Given the description of an element on the screen output the (x, y) to click on. 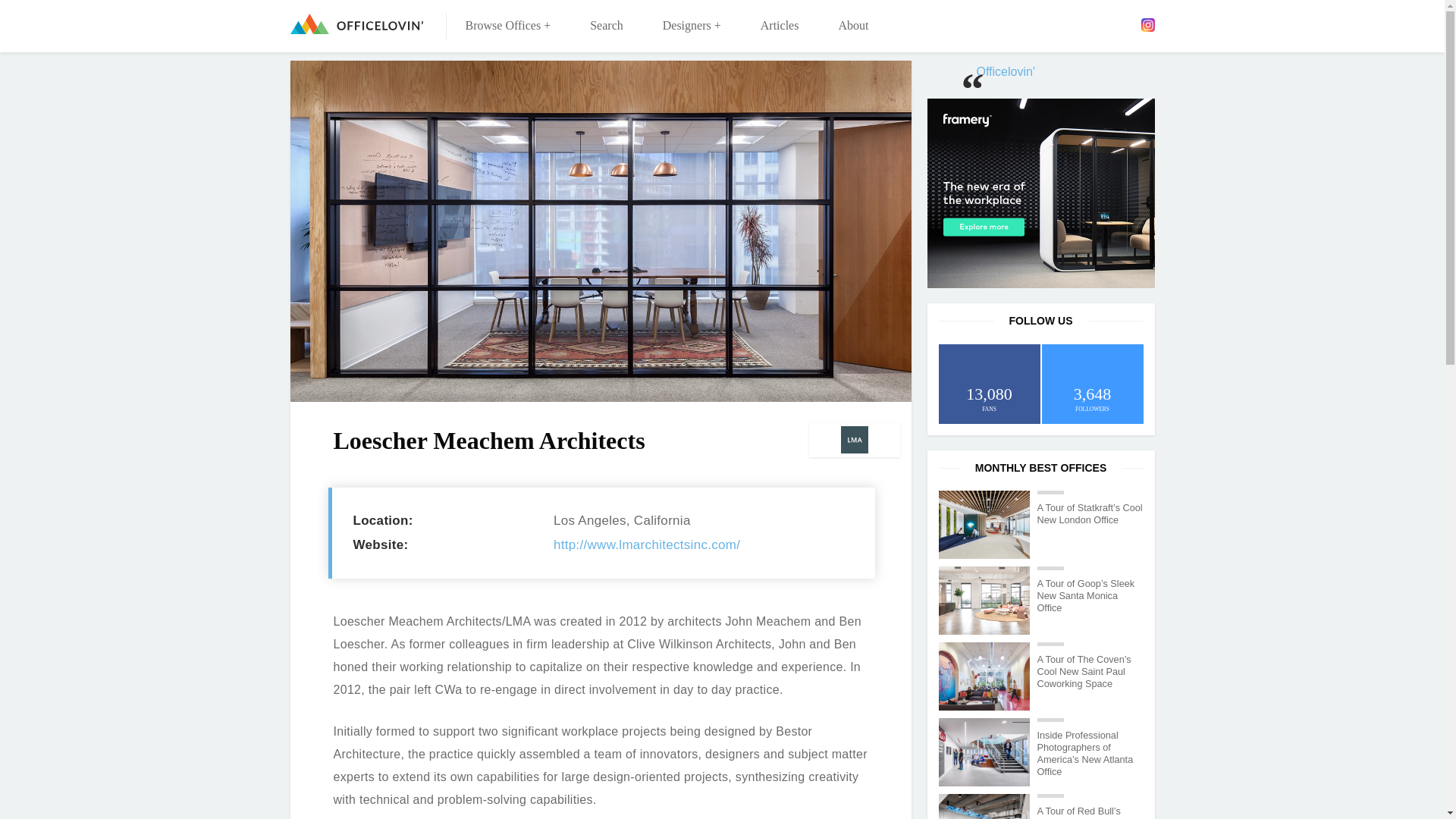
Officelovin on Facebook (1058, 24)
Officelovin on Pinterest (1125, 24)
Officelovin on Twitter (1082, 24)
Officelovin on LinkedIn (1102, 24)
Search (606, 25)
Officelovin on Instagram (1147, 24)
